Given the description of an element on the screen output the (x, y) to click on. 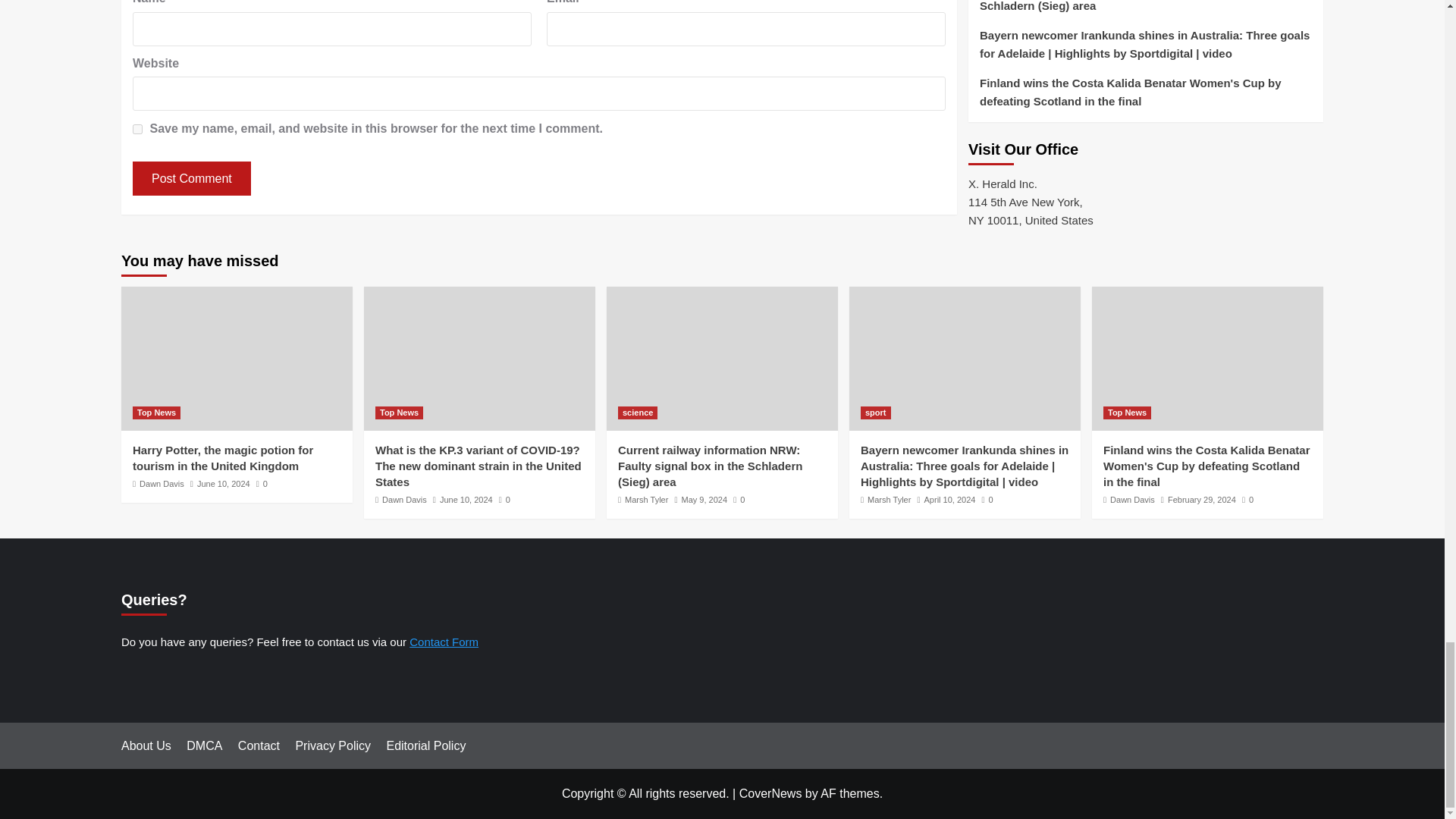
yes (137, 129)
Post Comment (191, 178)
